Given the description of an element on the screen output the (x, y) to click on. 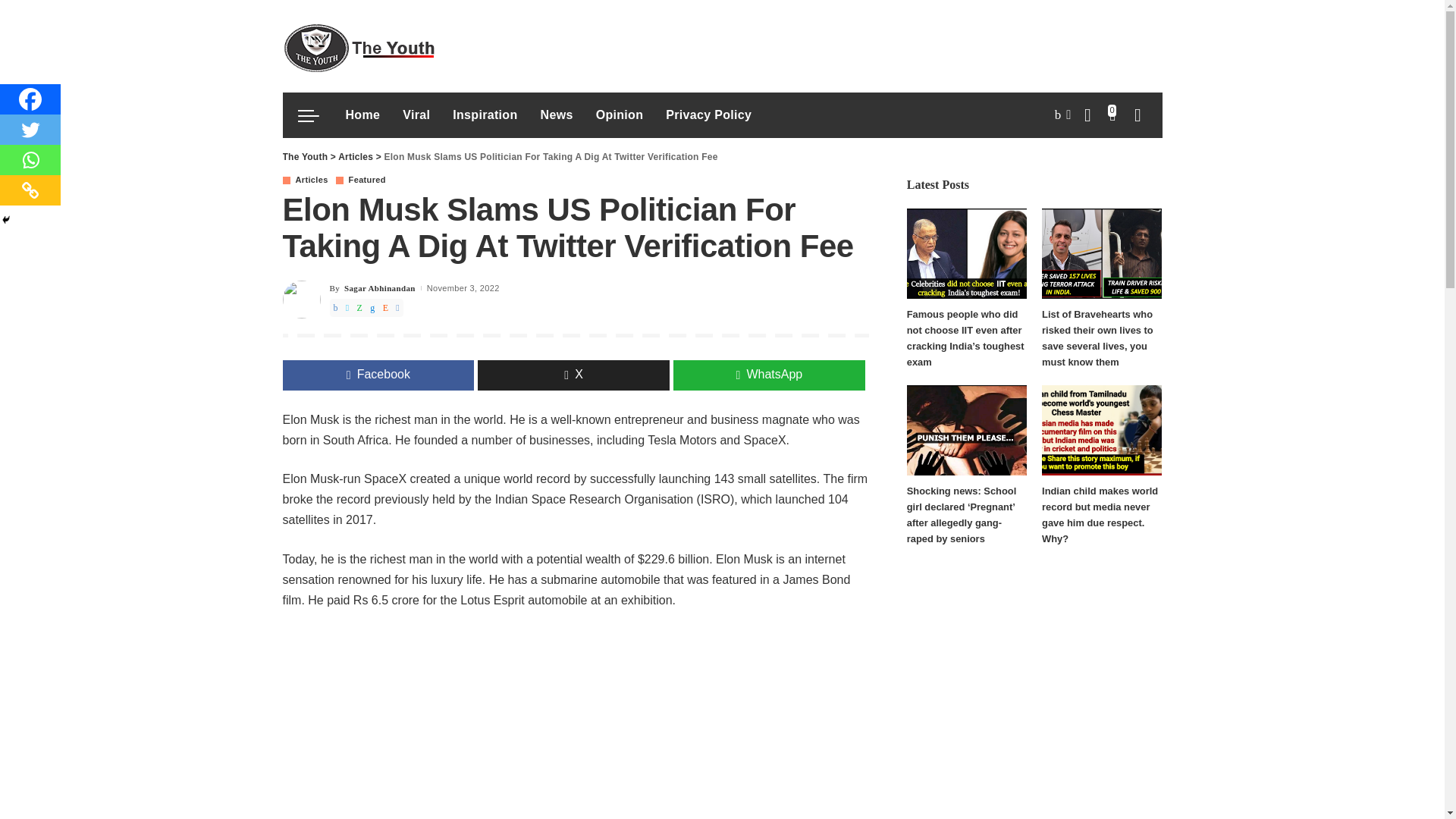
Hide (5, 219)
Whatsapp (30, 159)
Advertisement (575, 723)
Facebook (30, 99)
The Youth (357, 45)
Copy Link (30, 190)
Twitter (30, 129)
Go to the Articles Category archives. (354, 156)
Go to The Youth. (304, 156)
